Given the description of an element on the screen output the (x, y) to click on. 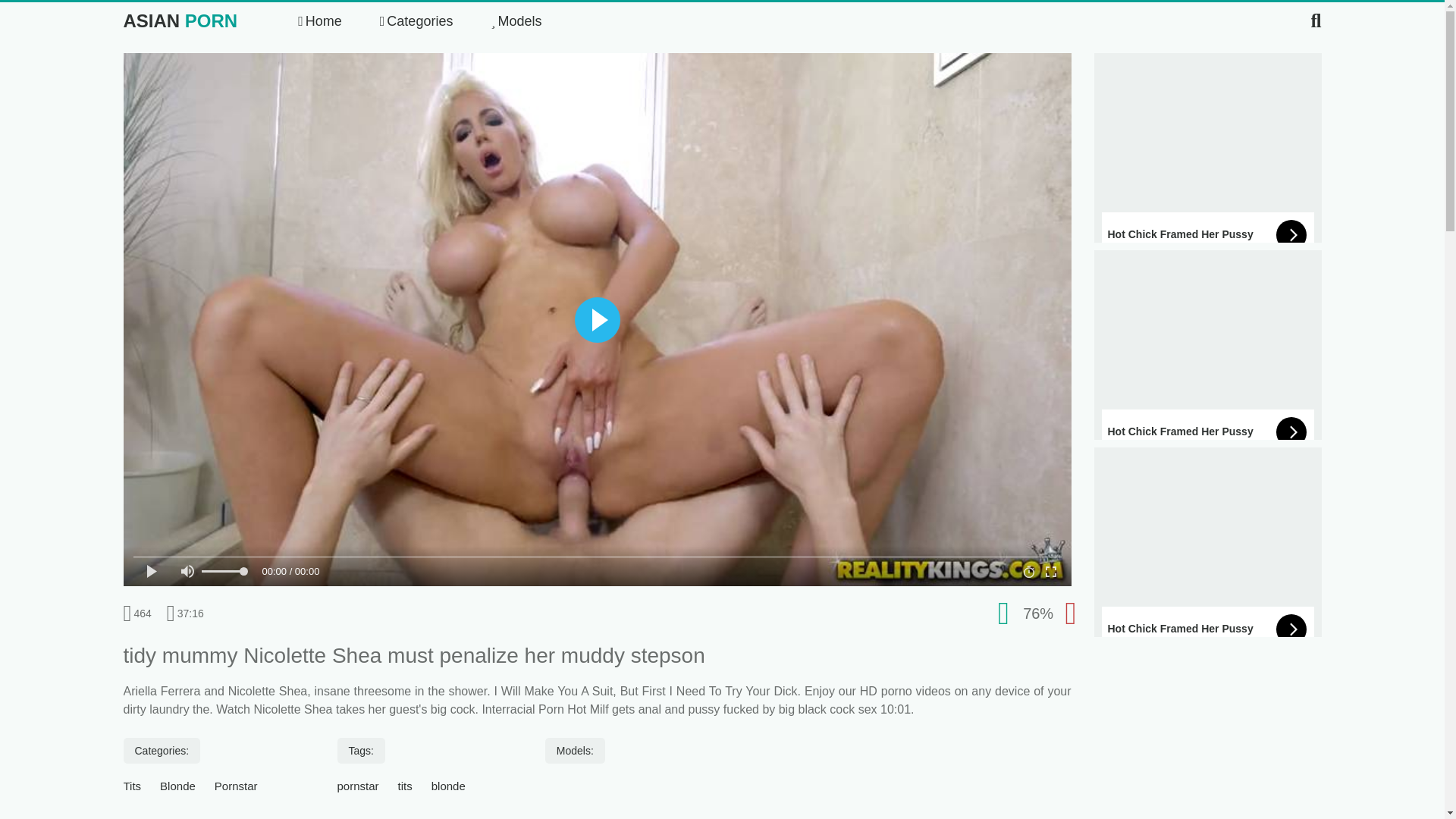
Blonde (177, 785)
Hot Chick Framed Her Pussy (1206, 556)
Models (515, 21)
Pornstar (235, 785)
pornstar (357, 785)
Hot Chick Framed Her Pussy (1206, 162)
blonde (447, 785)
Home (320, 21)
Categories (416, 21)
ASIAN PORN (179, 21)
